Given the description of an element on the screen output the (x, y) to click on. 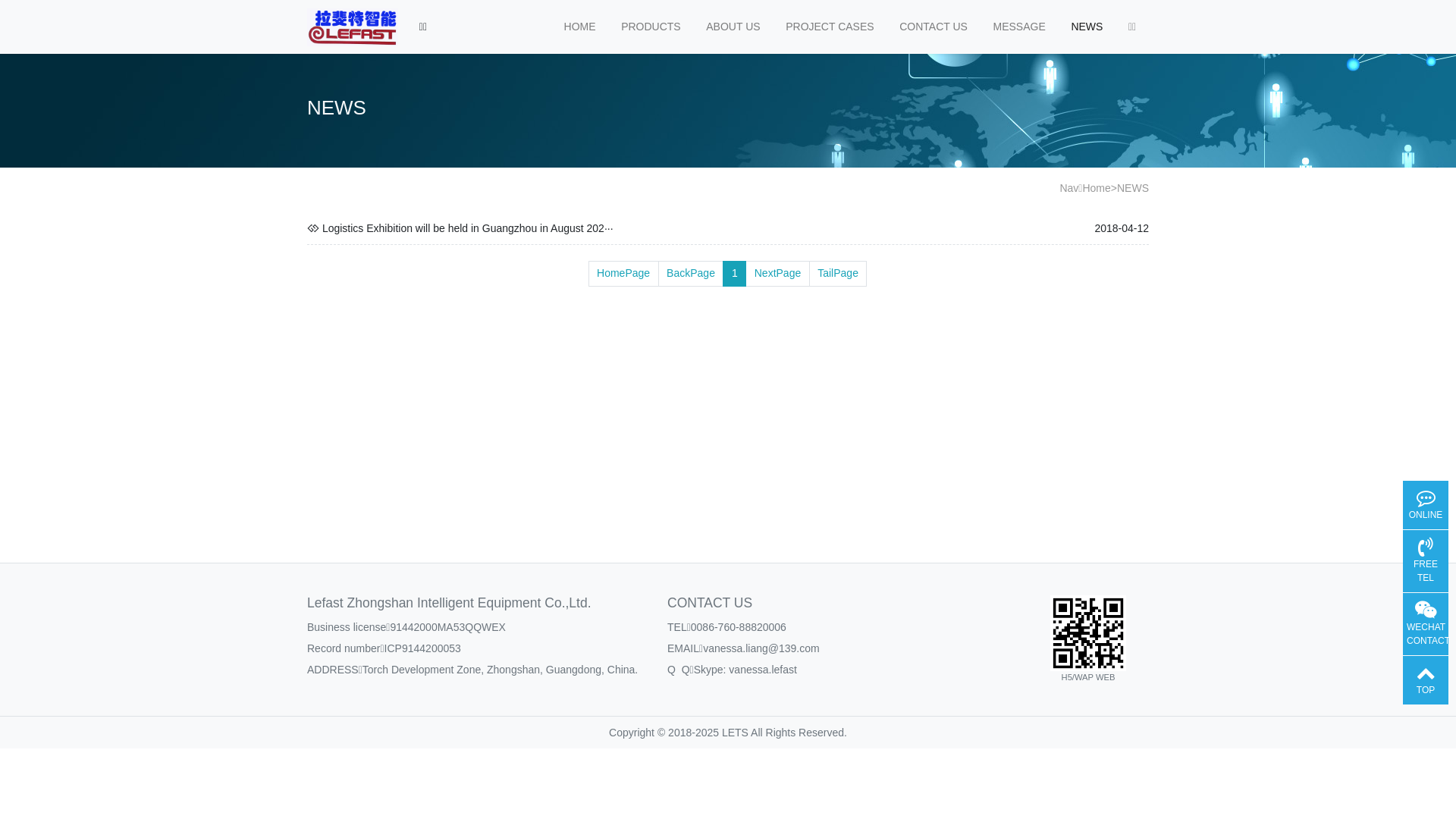
HOME Element type: text (579, 26)
NEWS Element type: text (1132, 188)
HomePage Element type: text (623, 273)
Home Element type: text (1096, 188)
ICP9144200053 Element type: text (422, 648)
PRODUCTS Element type: text (650, 26)
PROJECT CASES Element type: text (829, 26)
NextPage Element type: text (777, 273)
1 Element type: text (734, 273)
BackPage Element type: text (691, 273)
NEWS Element type: text (1087, 26)
MESSAGE Element type: text (1019, 26)
ABOUT US Element type: text (732, 26)
CONTACT US Element type: text (932, 26)
TailPage Element type: text (838, 273)
